Given the description of an element on the screen output the (x, y) to click on. 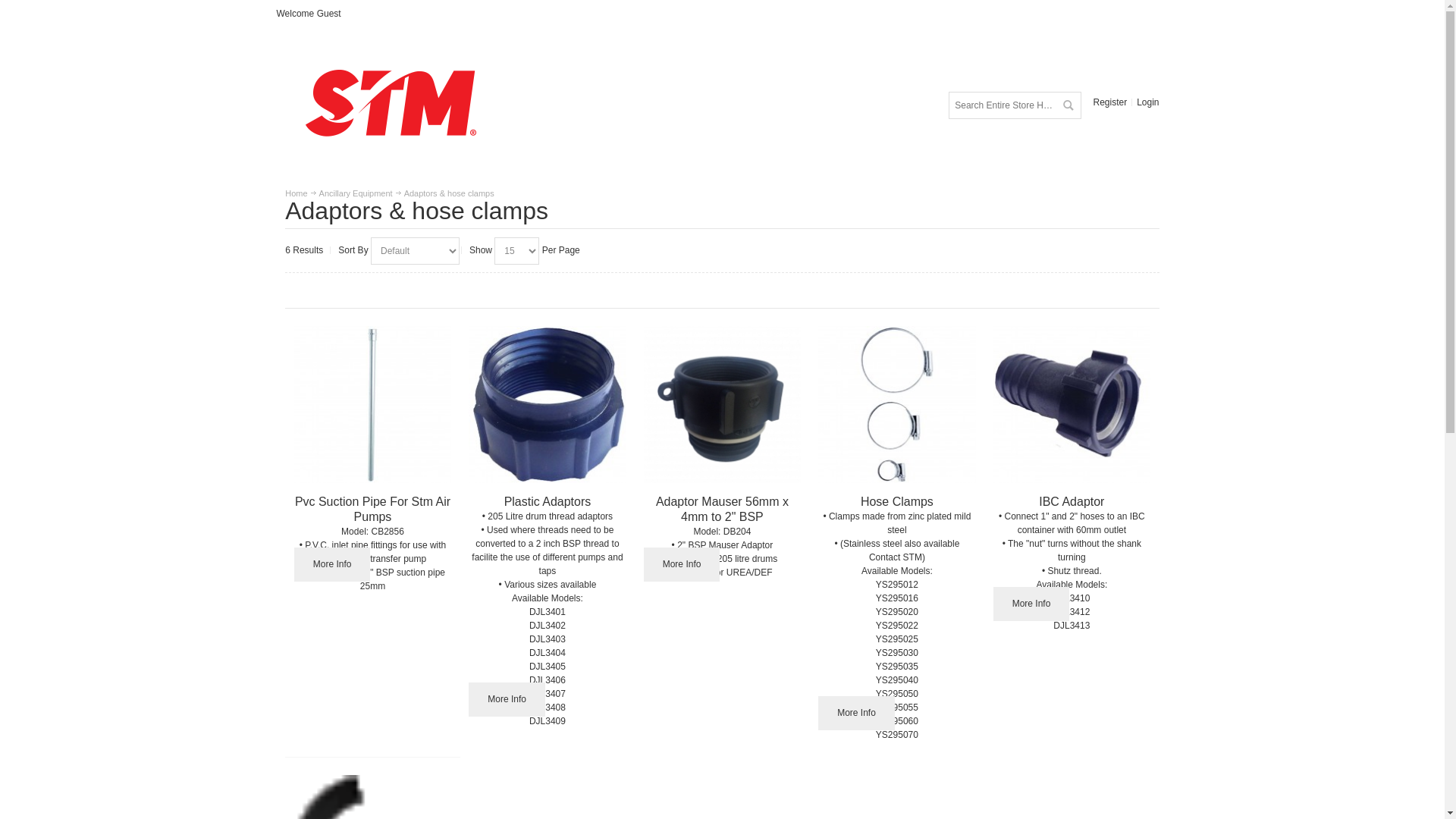
More Info Element type: text (1031, 603)
Login Element type: text (1147, 101)
Ancillary Equipment Element type: text (355, 193)
More Info Element type: text (681, 564)
IBC Adaptor Element type: text (1071, 501)
Home Element type: text (296, 193)
Pvc Suction Pipe For Stm Air Pumps Element type: text (372, 509)
More Info Element type: text (332, 564)
Plastic Adaptors Element type: hover (546, 404)
IBC Adaptor Element type: hover (1071, 404)
Adaptor Mauser 56mm x 4mm to 2" BSP Element type: hover (721, 404)
Adaptor Mauser 56mm x 4mm to 2" BSP Element type: text (721, 509)
Register Element type: text (1109, 101)
Pvc Suction Pipe For Stm Air Pumps Element type: hover (372, 404)
Plastic Adaptors Element type: text (547, 501)
Hose Clamps Element type: text (896, 501)
Search Element type: hover (1067, 104)
More Info Element type: text (856, 713)
Hose Clamps Element type: hover (896, 404)
Adaptors & hose clamps Element type: text (449, 193)
More Info Element type: text (506, 699)
